Given the description of an element on the screen output the (x, y) to click on. 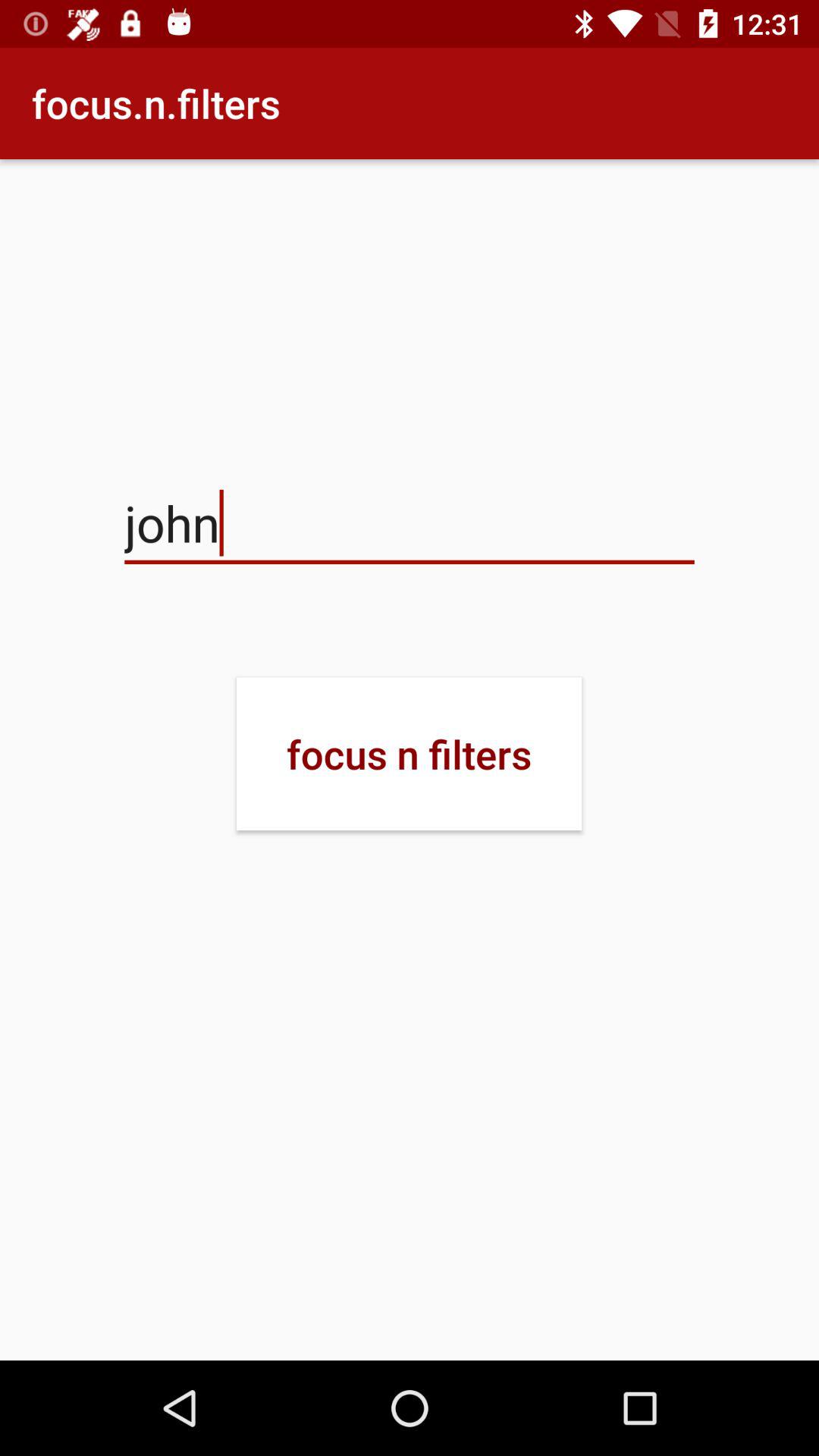
turn on icon below focus.n.filters item (409, 523)
